Given the description of an element on the screen output the (x, y) to click on. 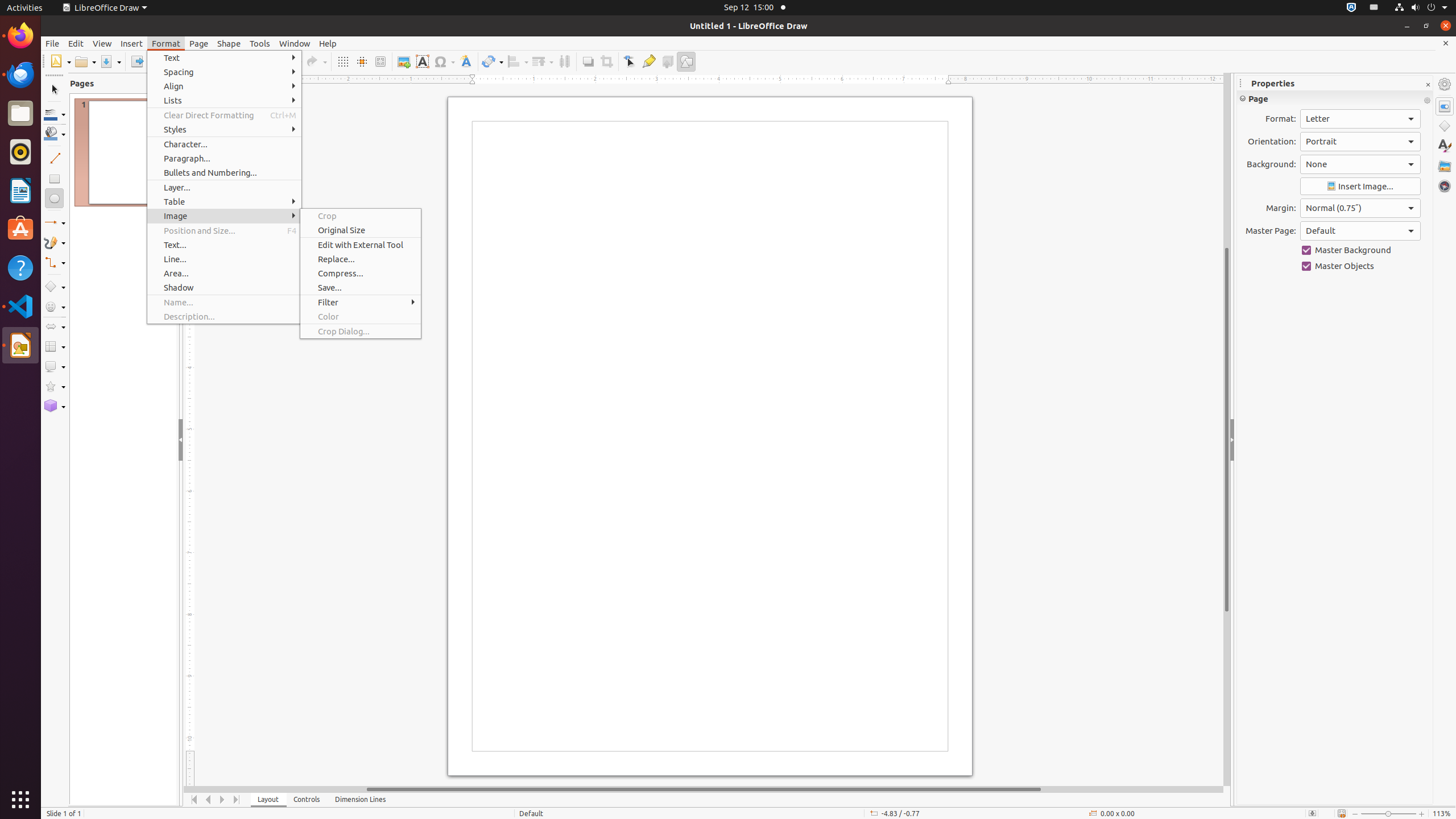
Filter Element type: menu (360, 302)
Character... Element type: menu-item (224, 144)
Symbol Element type: push-button (443, 61)
Edit with External Tool Element type: menu-item (360, 244)
New Element type: push-button (59, 61)
